Given the description of an element on the screen output the (x, y) to click on. 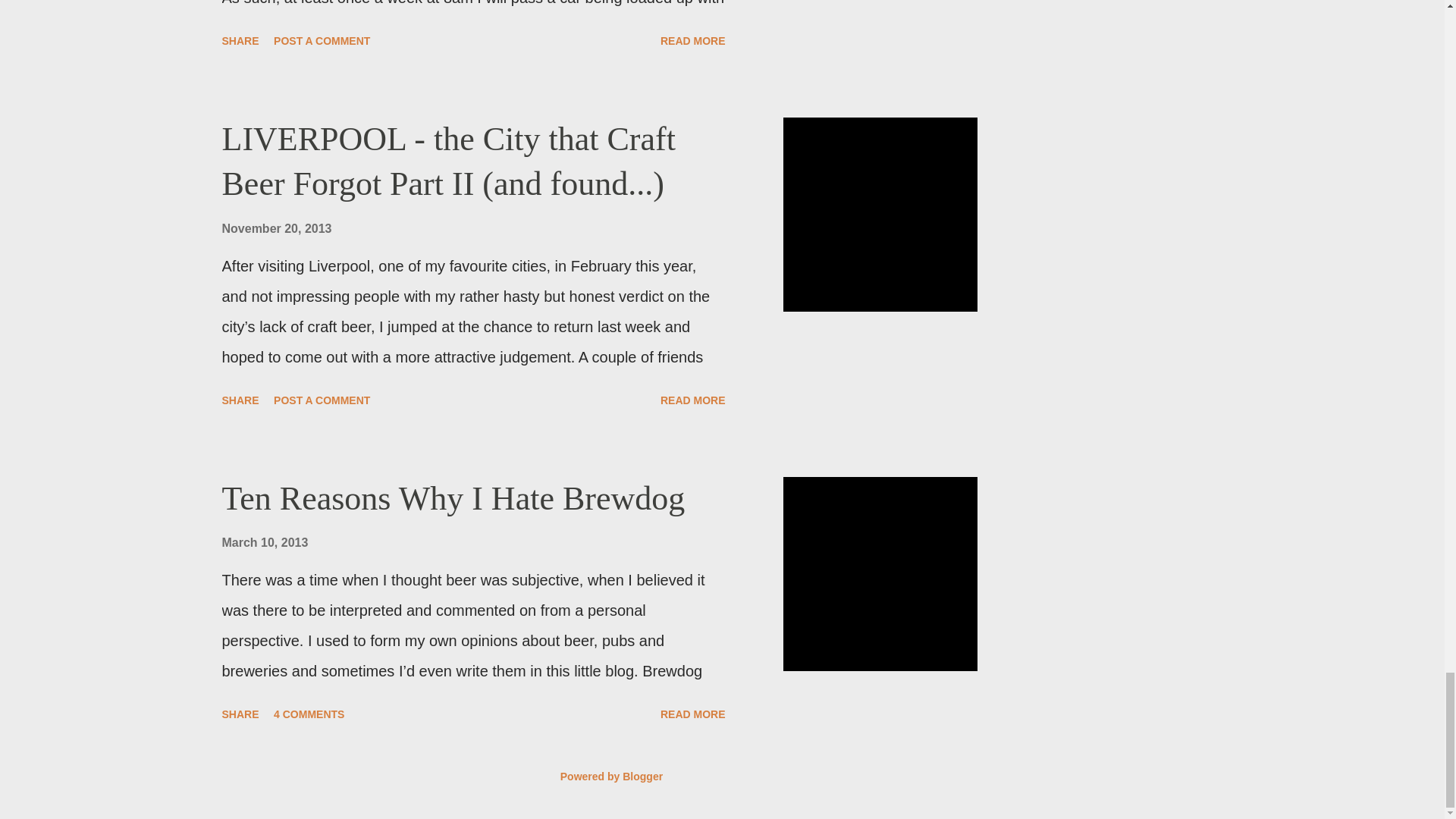
SHARE (239, 400)
March 10, 2013 (264, 542)
READ MORE (692, 400)
READ MORE (692, 40)
POST A COMMENT (321, 40)
POST A COMMENT (321, 400)
November 20, 2013 (276, 228)
SHARE (239, 40)
Ten Reasons Why I Hate Brewdog (452, 497)
